Given the description of an element on the screen output the (x, y) to click on. 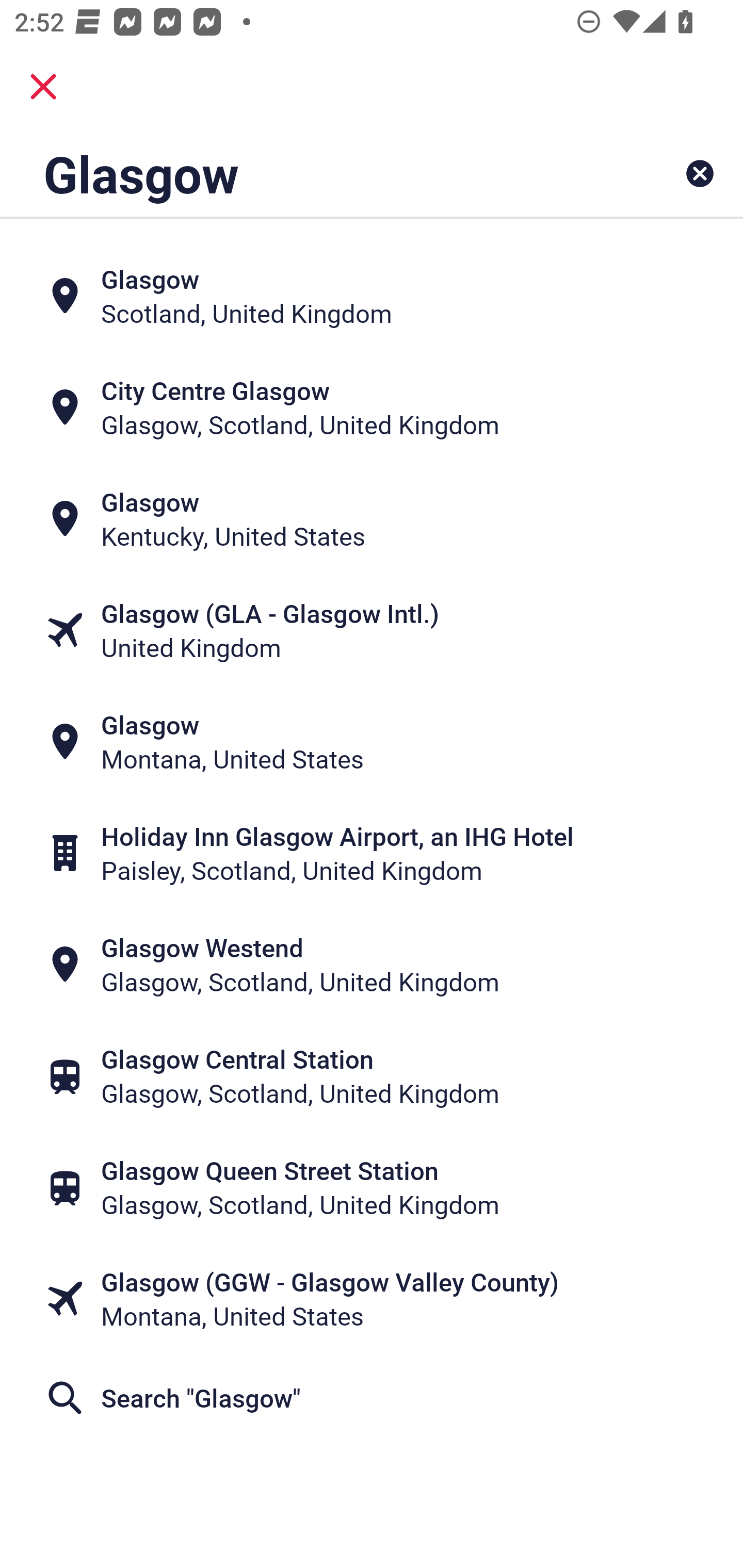
close. (43, 86)
Clear (699, 173)
Glasgow (306, 173)
Glasgow Scotland, United Kingdom (371, 295)
Glasgow Kentucky, United States (371, 517)
Glasgow (GLA - Glasgow Intl.) United Kingdom (371, 629)
Glasgow Montana, United States (371, 742)
Glasgow Westend Glasgow, Scotland, United Kingdom (371, 964)
Search "Glasgow" (371, 1397)
